Given the description of an element on the screen output the (x, y) to click on. 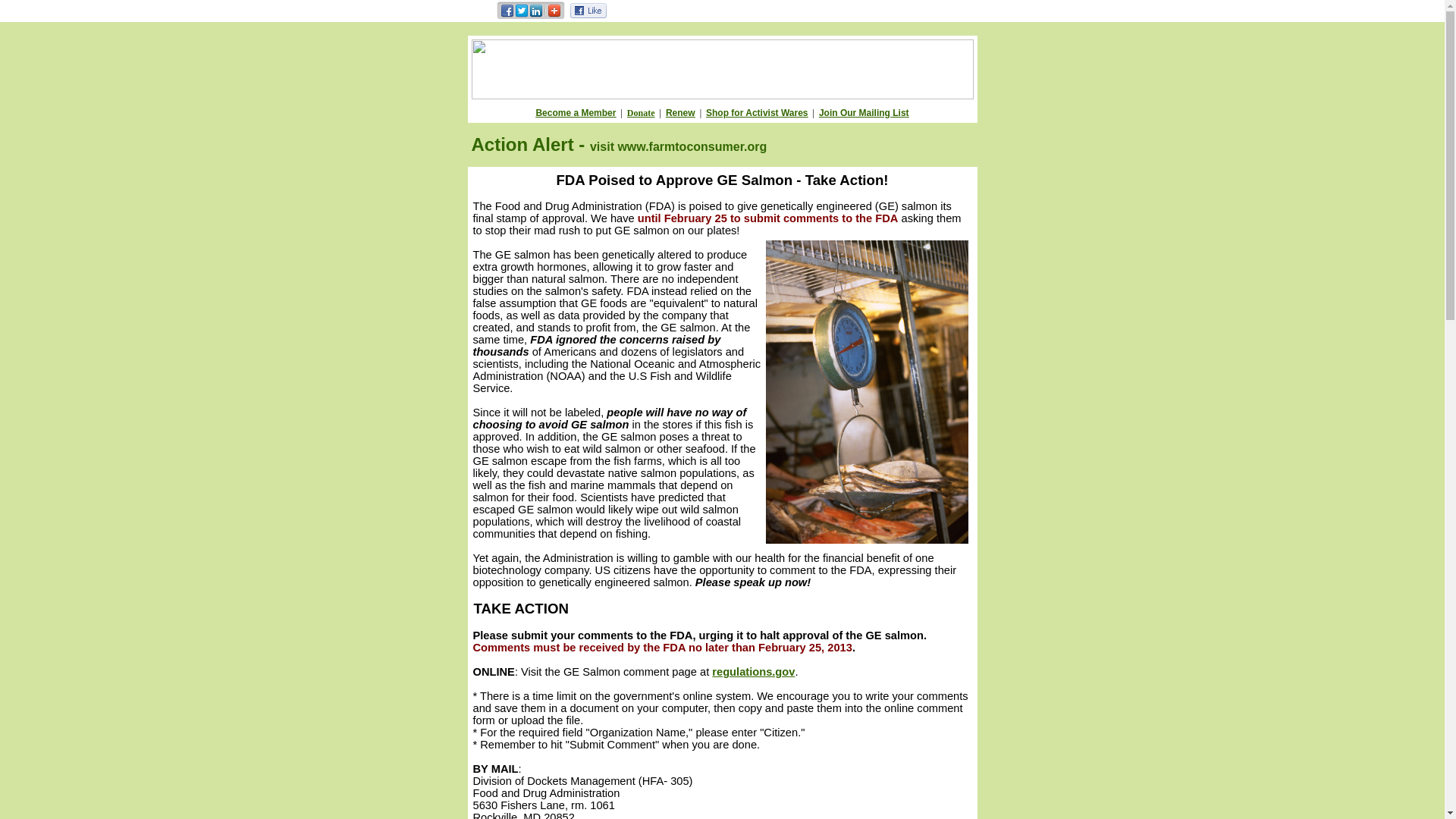
www.farmtoconsumer.org (692, 146)
Shop for Activist Wares (757, 112)
More Share Options (553, 16)
until February 25 to submit comments to the FDA (767, 218)
Donate (641, 112)
Share with Twitter (520, 16)
Become a Member (575, 112)
Renew (680, 112)
Like This (588, 13)
Share with Facebook (507, 16)
Share with LinkedIn (536, 16)
regulations.gov (752, 671)
Join Our Mailing List (863, 112)
